Given the description of an element on the screen output the (x, y) to click on. 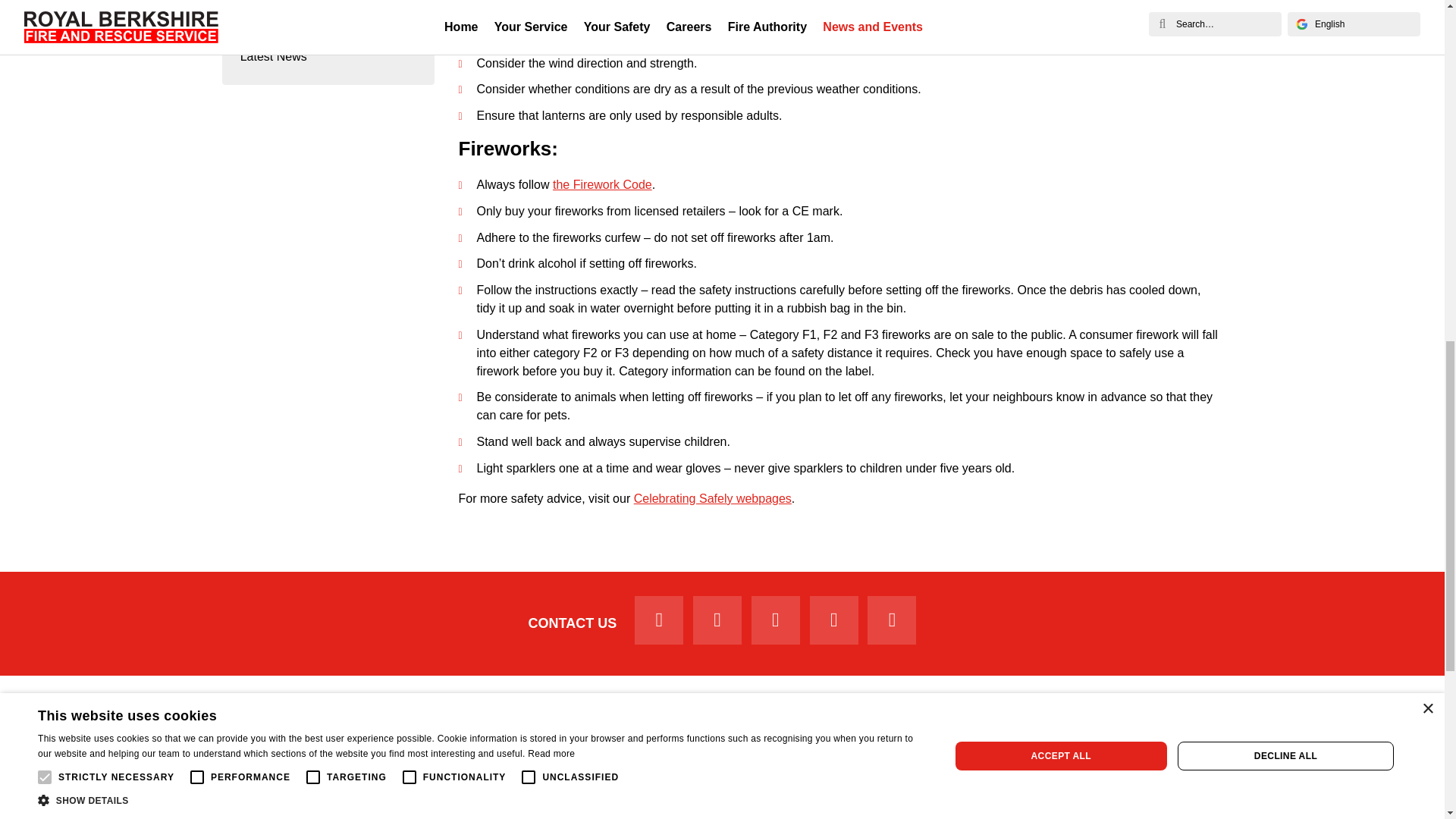
Contact Royal Berkshire Fire and Rescue Service (572, 623)
